Given the description of an element on the screen output the (x, y) to click on. 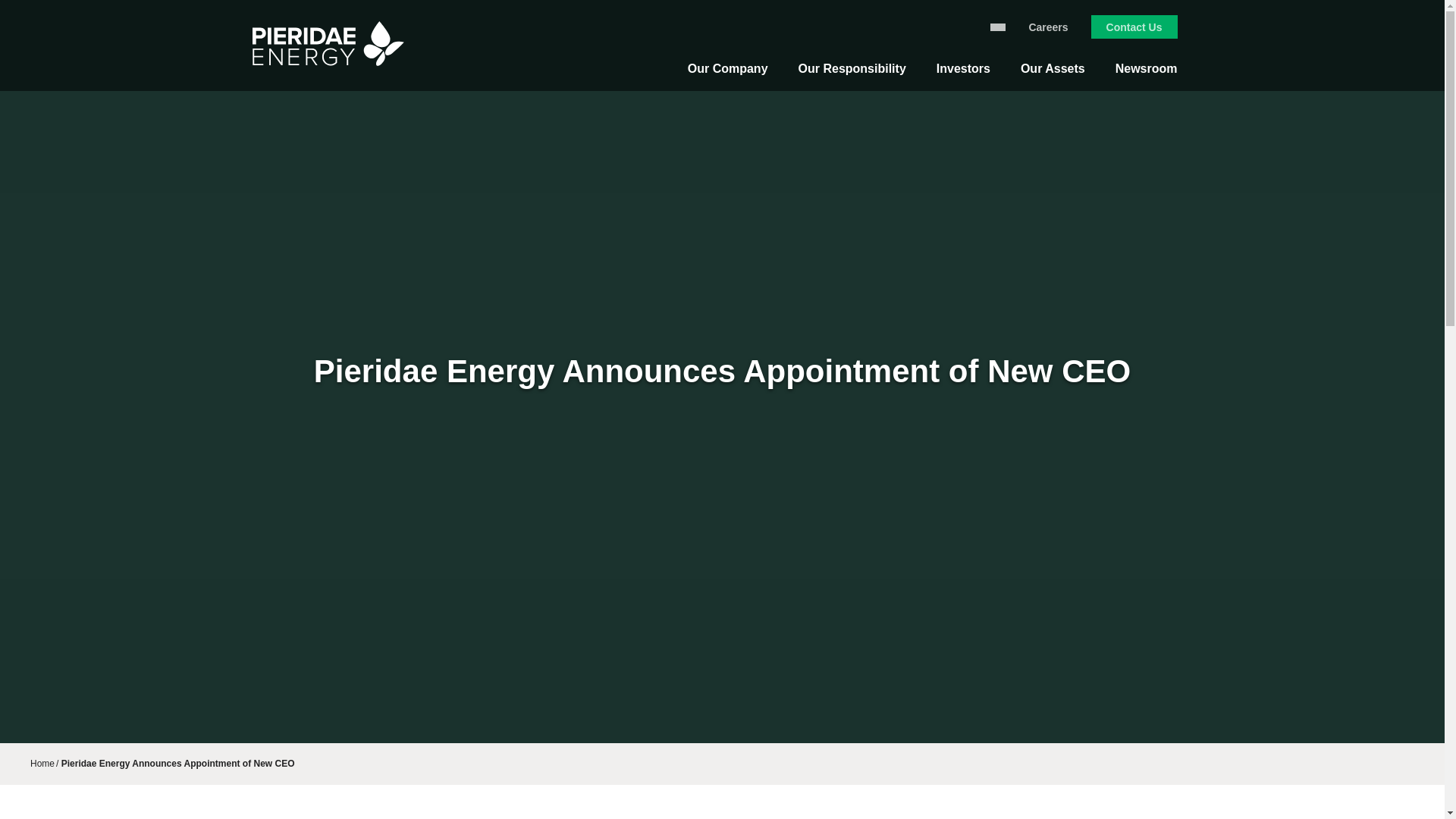
Our Responsibility (852, 77)
Newsroom (1146, 77)
Careers (1048, 26)
Our Company (727, 77)
Home (42, 763)
Investors (963, 77)
Contact Us (1133, 26)
Our Assets (1053, 77)
